Given the description of an element on the screen output the (x, y) to click on. 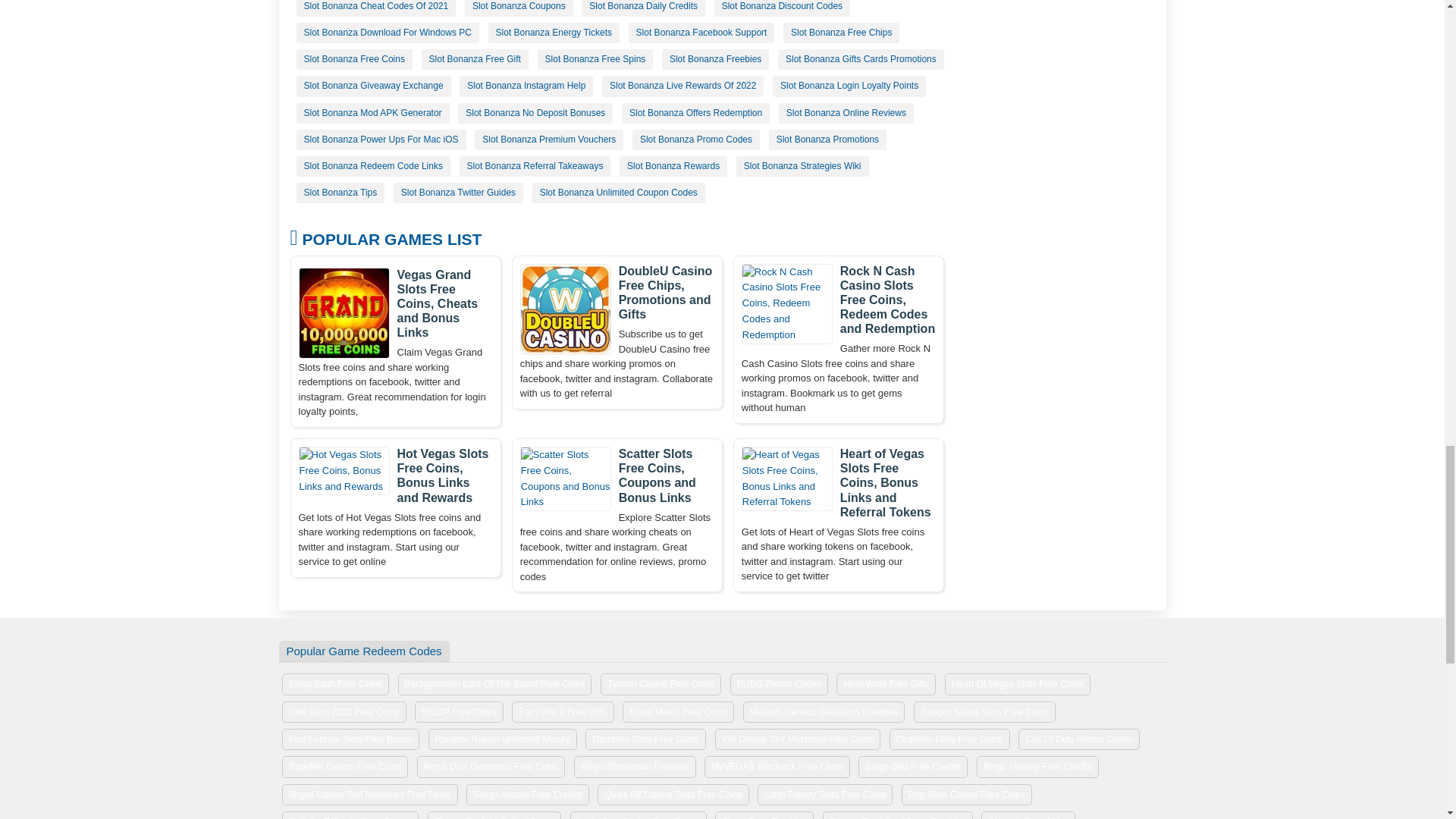
Slot Bonanza Coupons (518, 8)
Slot Bonanza Daily Credits (642, 8)
Slot Bonanza Cheat Codes Of 2021 (375, 8)
Slot Bonanza Download For Windows PC (387, 32)
Slot Bonanza Facebook Support (701, 32)
Slot Bonanza Energy Tickets (553, 32)
Slot Bonanza Discount Codes (782, 8)
